Given the description of an element on the screen output the (x, y) to click on. 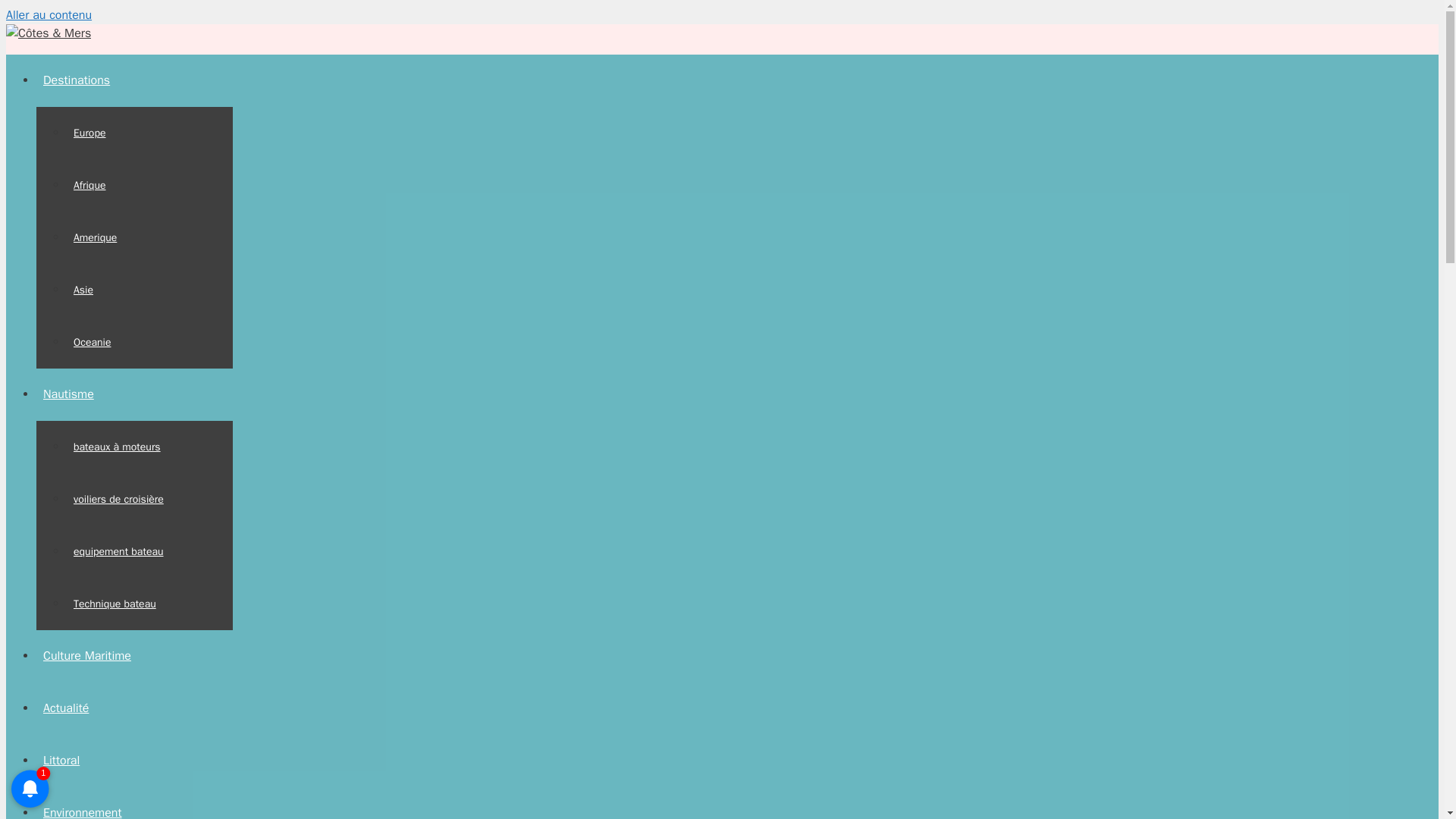
Europe (89, 132)
Destinations (79, 79)
Technique bateau (114, 603)
Afrique (89, 184)
Nautisme (71, 394)
Oceanie (91, 341)
Aller au contenu (48, 14)
Environnement (82, 812)
Aller au contenu (48, 14)
Littoral (60, 760)
Asie (83, 289)
Culture Maritime (87, 655)
equipement bateau (118, 551)
Amerique (94, 237)
